Given the description of an element on the screen output the (x, y) to click on. 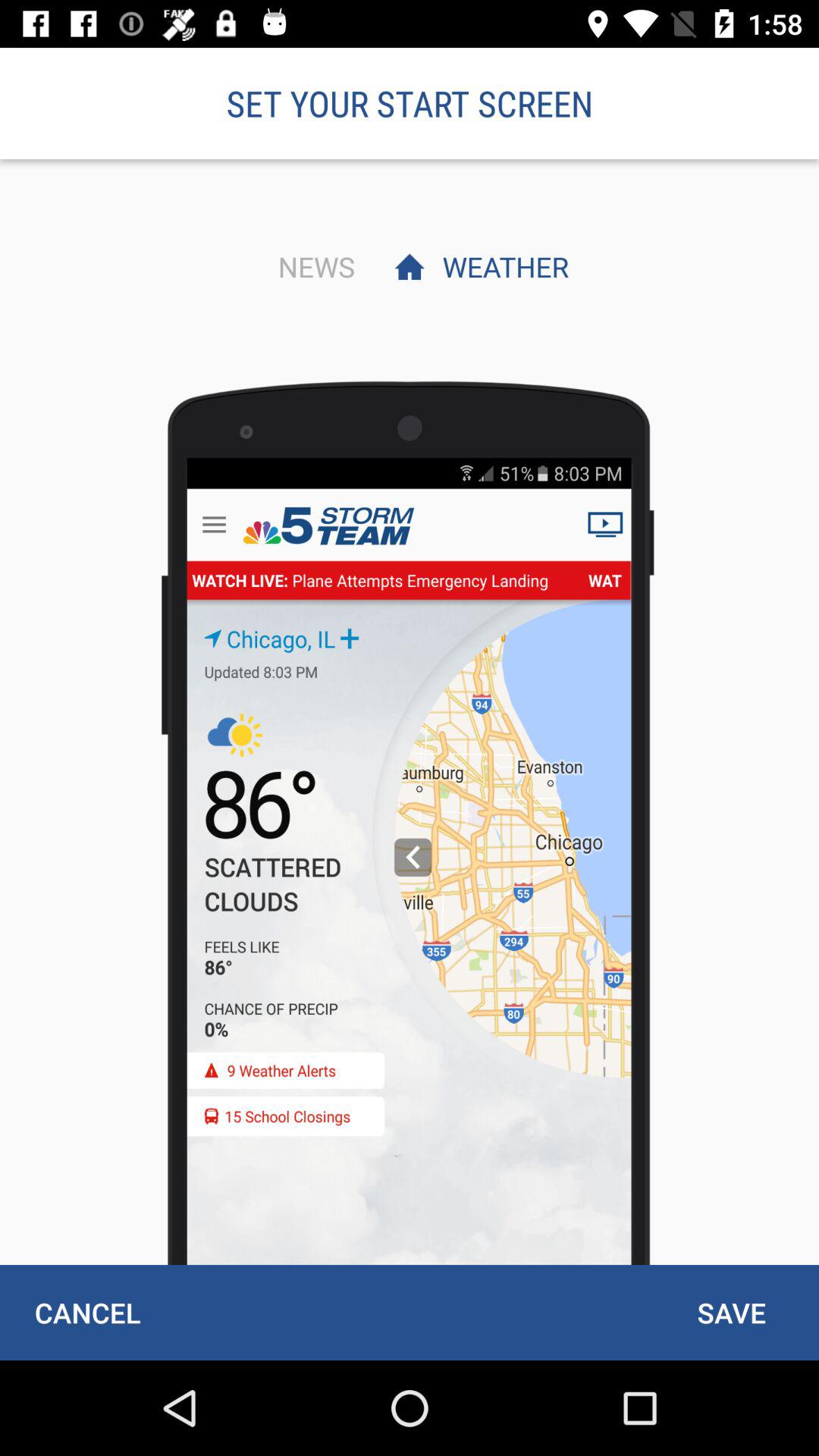
turn on weather icon (501, 266)
